Given the description of an element on the screen output the (x, y) to click on. 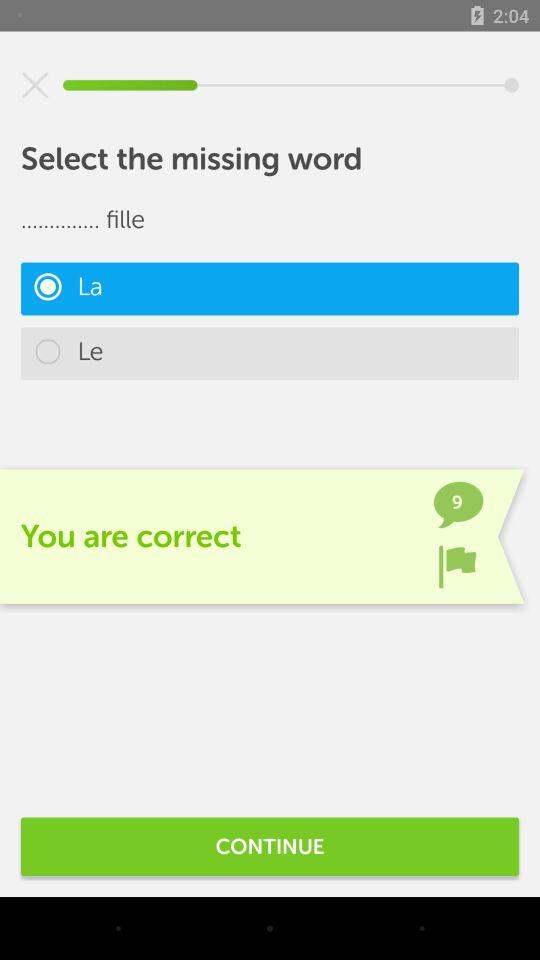
turn off item to the right of you are correct (457, 566)
